Given the description of an element on the screen output the (x, y) to click on. 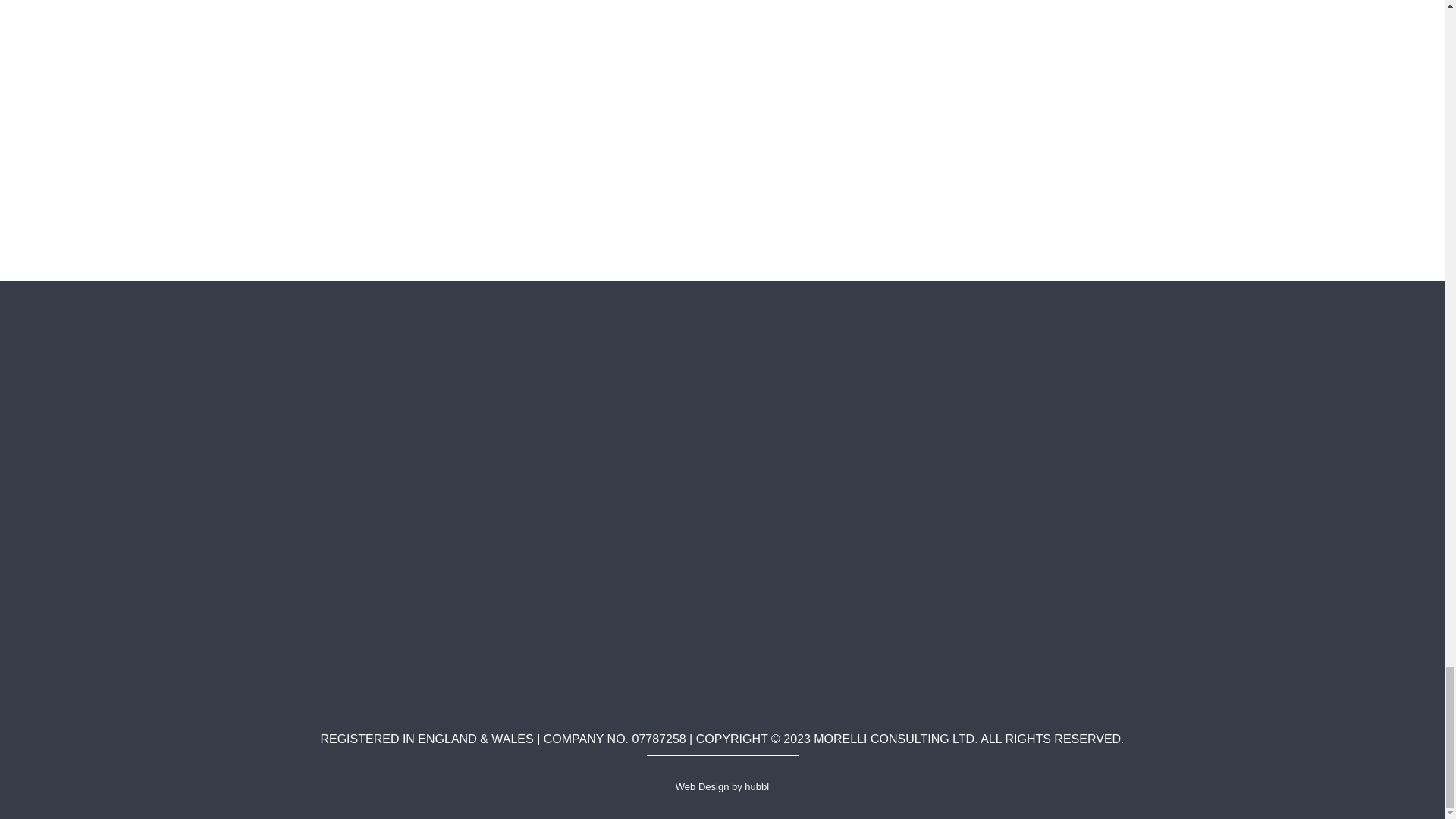
hubbl (756, 786)
